Given the description of an element on the screen output the (x, y) to click on. 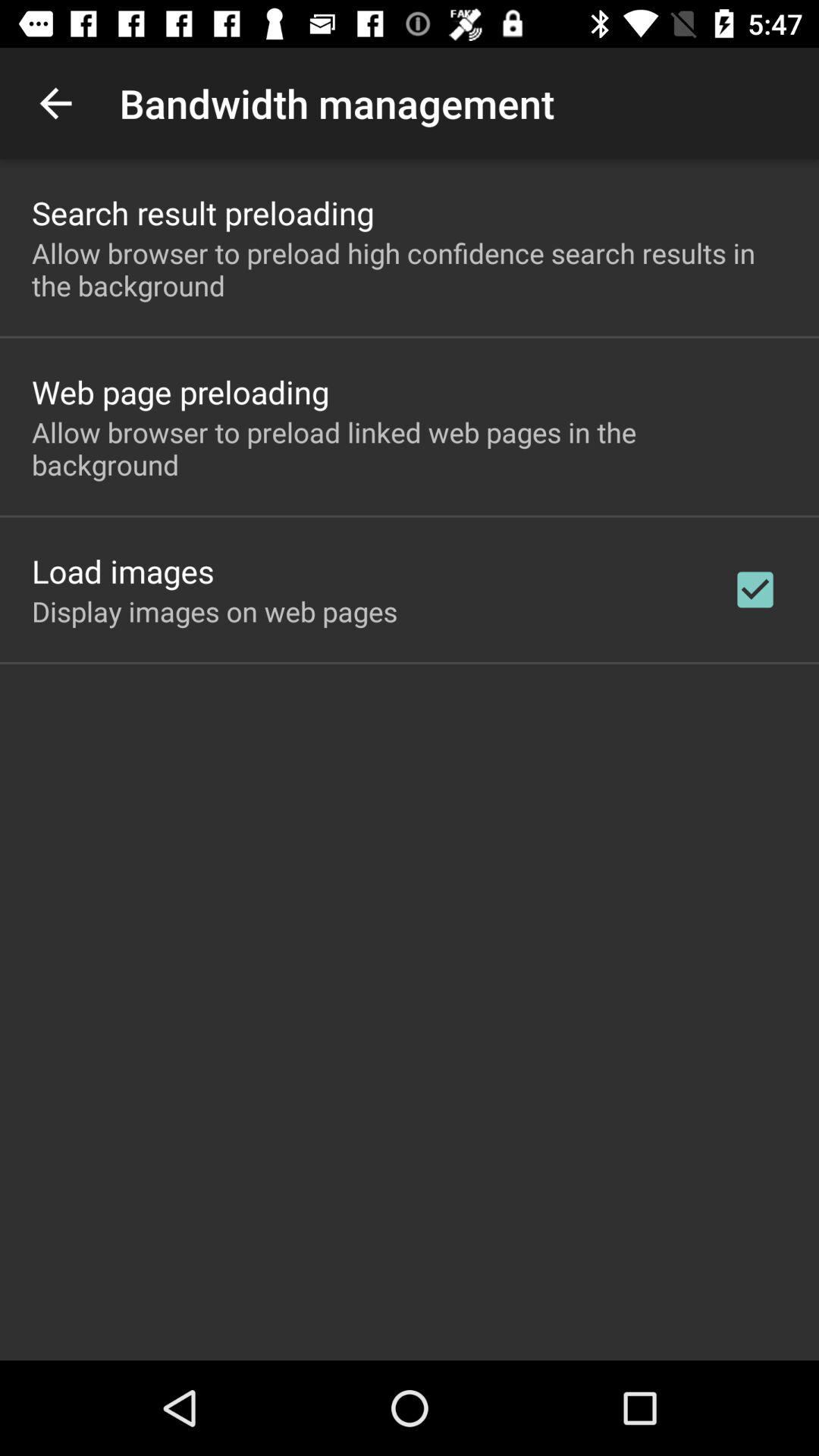
turn off the item above the search result preloading (55, 103)
